Given the description of an element on the screen output the (x, y) to click on. 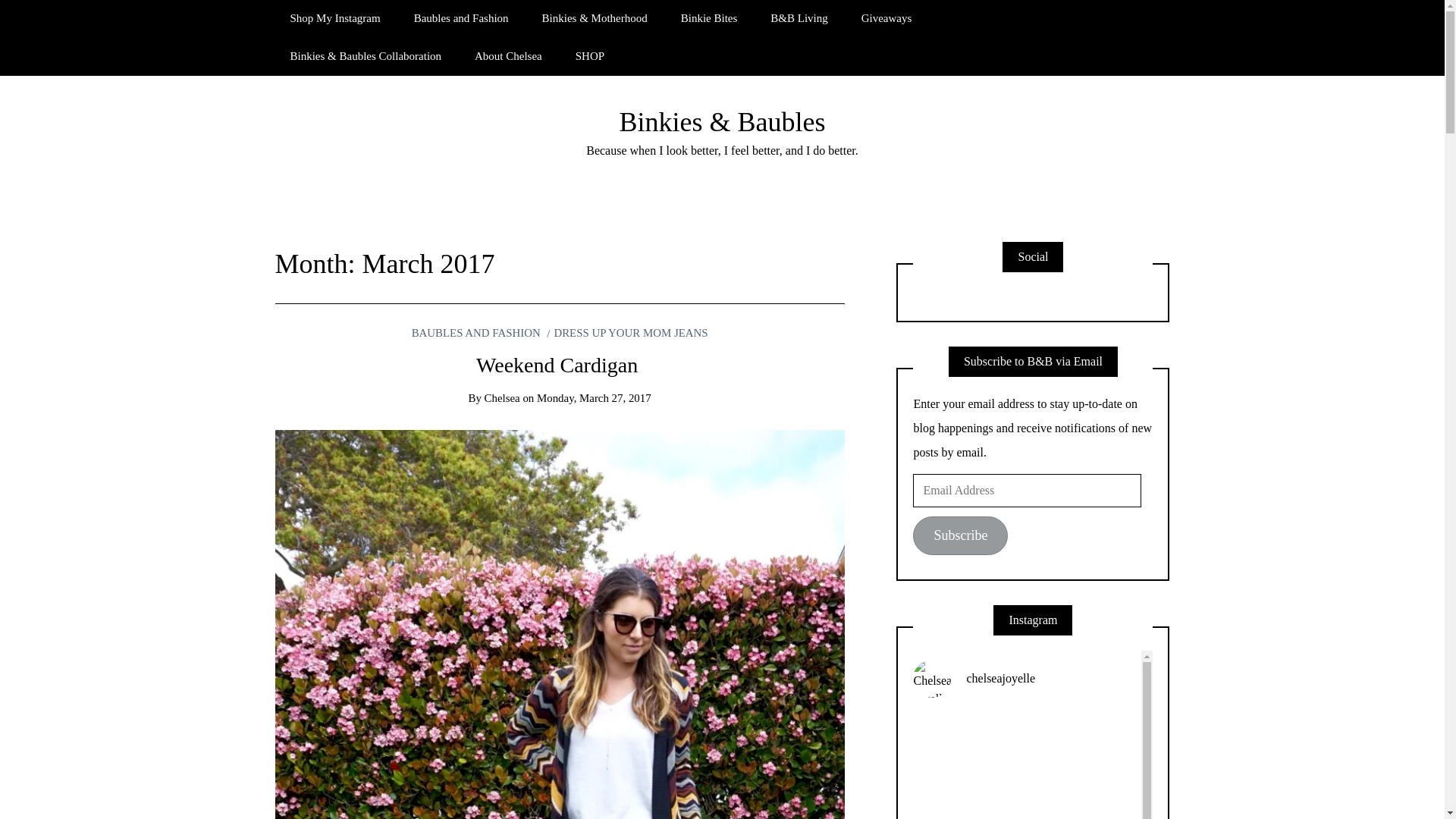
DRESS UP YOUR MOM JEANS (627, 332)
About Chelsea (508, 56)
Chelsea (501, 398)
Weekend Cardigan  (559, 364)
BAUBLES AND FASHION (476, 332)
Binkie Bites (708, 18)
Shop My Instagram (334, 18)
Giveaways (886, 18)
Posts by Chelsea (501, 398)
Baubles and Fashion (461, 18)
Monday, March 27, 2017 (593, 398)
SHOP (590, 56)
